Given the description of an element on the screen output the (x, y) to click on. 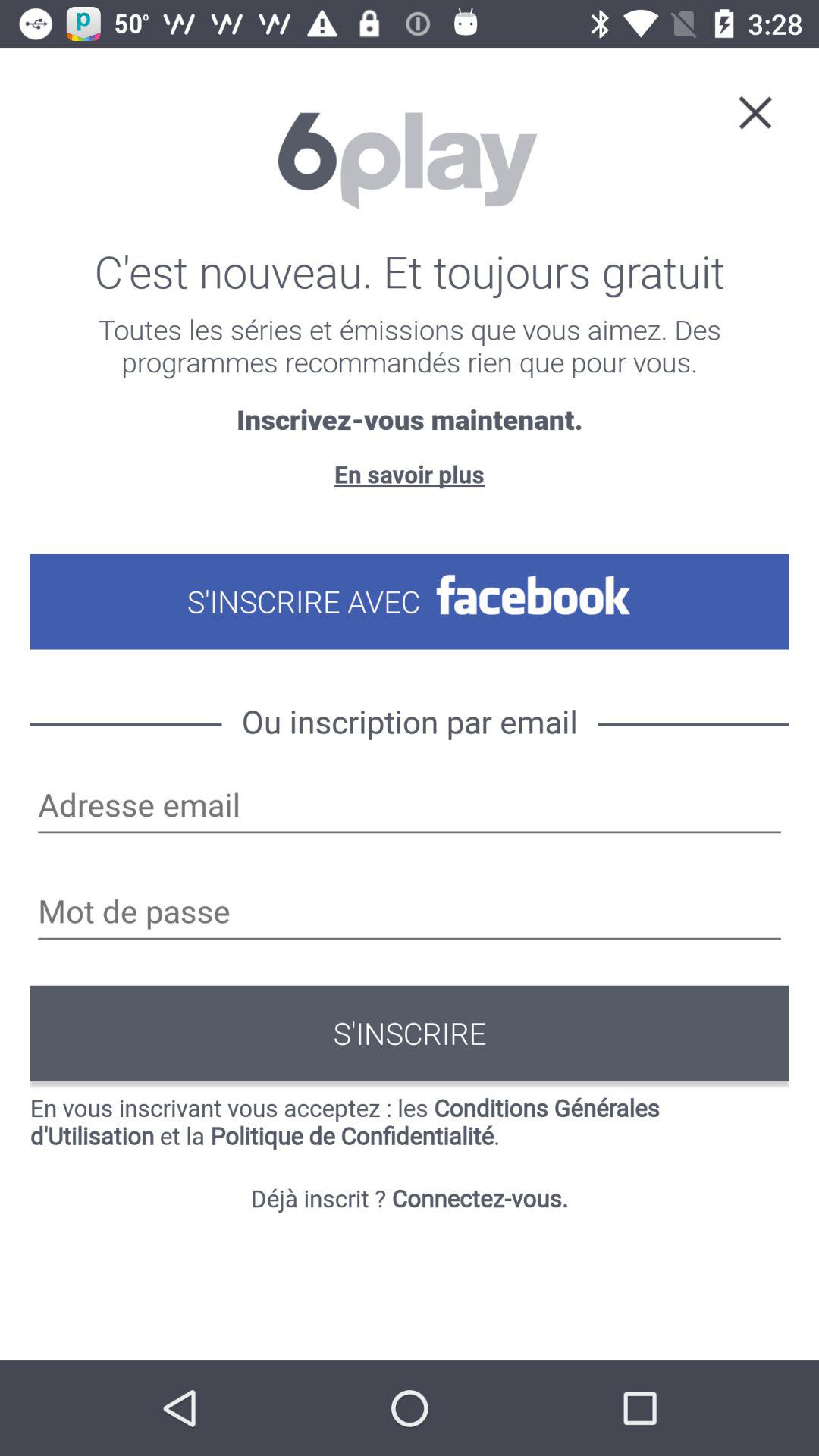
click the en savoir plus (409, 473)
